Given the description of an element on the screen output the (x, y) to click on. 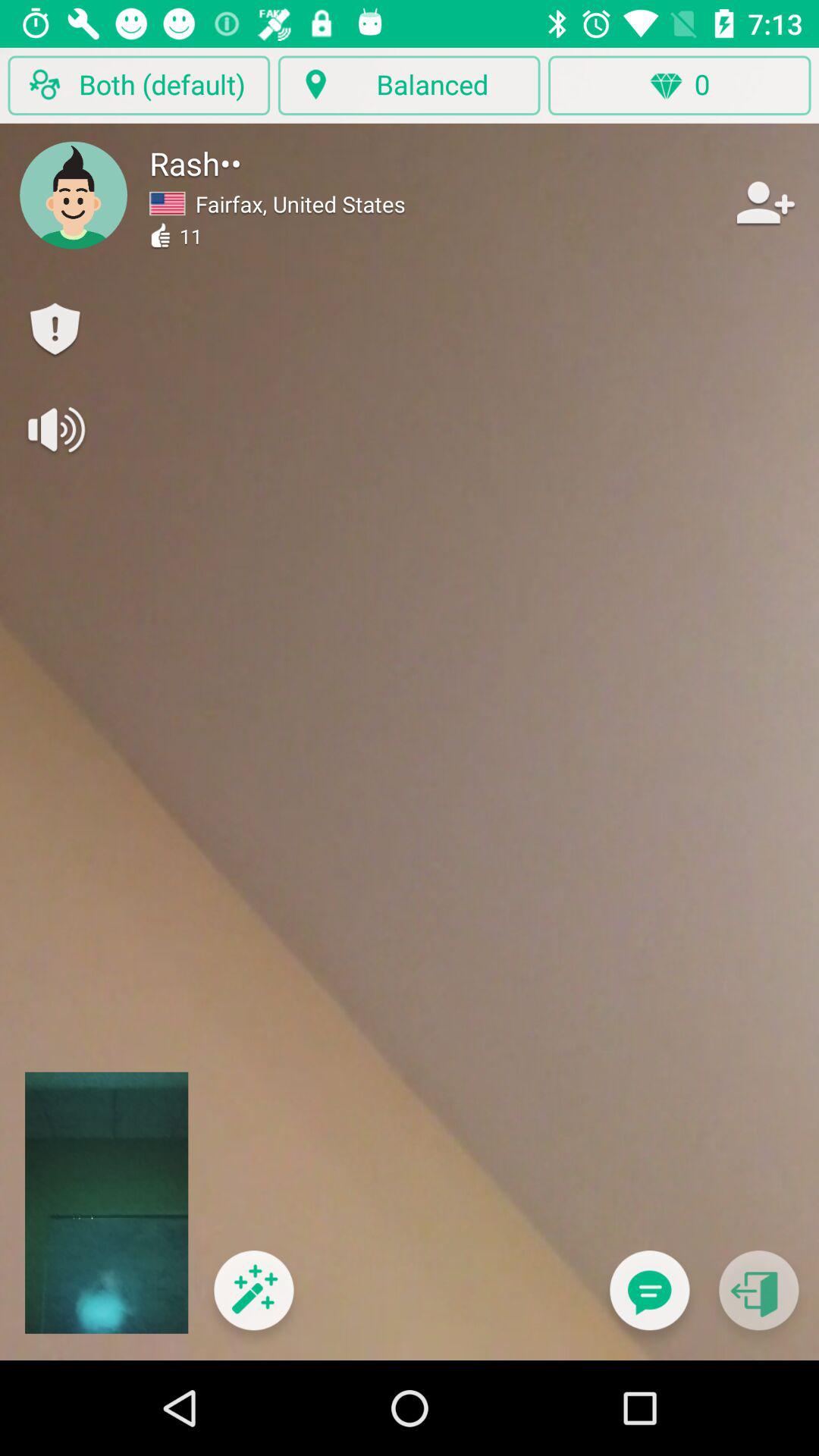
open chat (649, 1300)
